Given the description of an element on the screen output the (x, y) to click on. 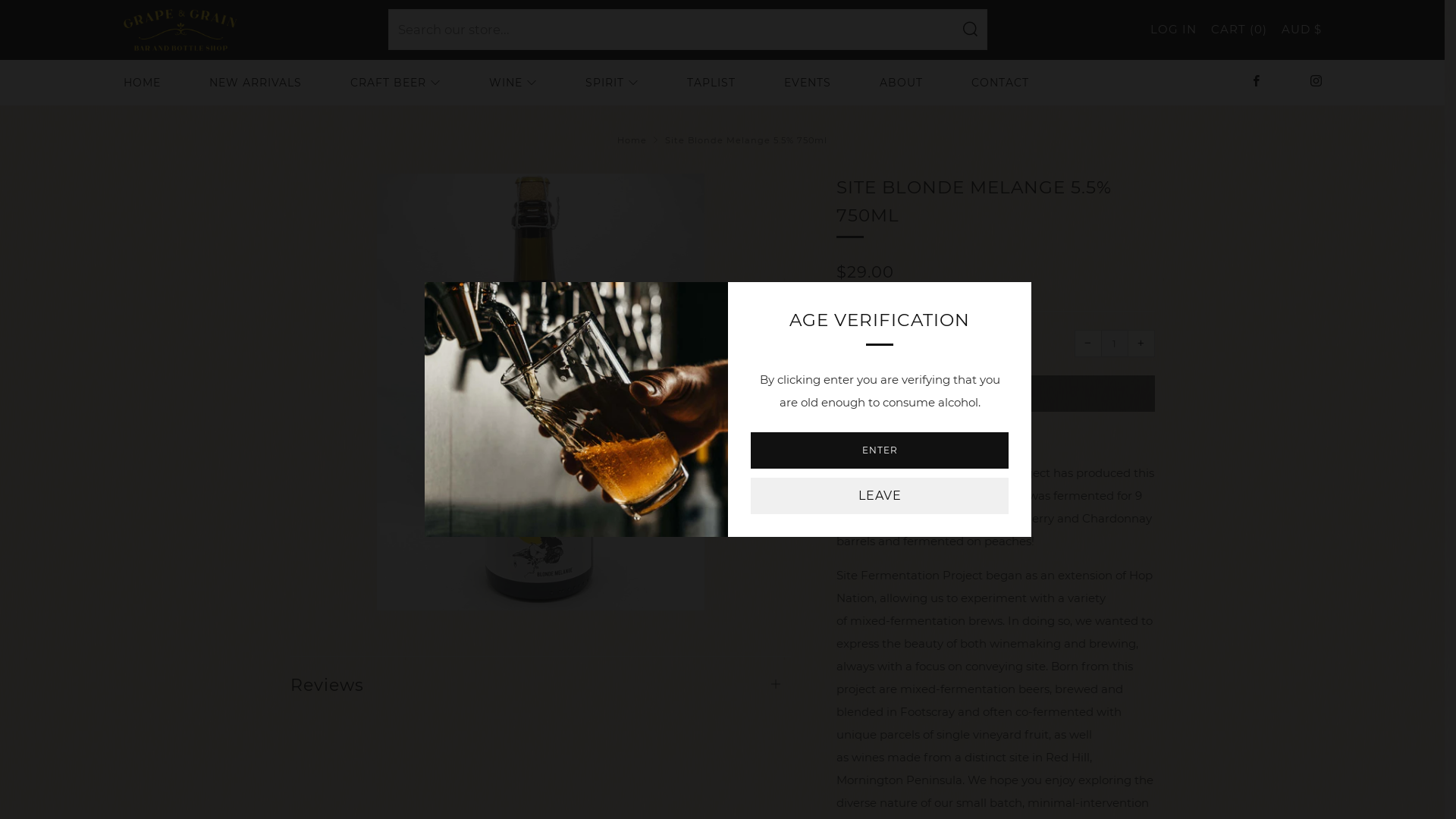
Reviews
Open tab Element type: text (539, 677)
LEAVE Element type: text (879, 495)
CONTACT Element type: text (999, 82)
SOLD OUT Element type: text (994, 393)
CRAFT BEER Element type: text (395, 82)
LOG IN Element type: text (1172, 29)
ABOUT Element type: text (900, 82)
EVENTS Element type: text (807, 82)
+
Increase item quantity by one Element type: text (1140, 343)
Search Element type: text (969, 29)
CART (0) Element type: text (1238, 29)
Email Element type: text (1020, 440)
WINE Element type: text (512, 82)
Fancy Element type: text (994, 440)
SPIRIT Element type: text (611, 82)
ENTER Element type: text (879, 450)
Facebook Element type: text (1255, 80)
TAPLIST Element type: text (711, 82)
Facebook Element type: text (969, 440)
Instagram Element type: text (1315, 80)
NEW ARRIVALS Element type: text (255, 82)
HOME Element type: text (141, 82)
Home Element type: text (631, 139)
